Given the description of an element on the screen output the (x, y) to click on. 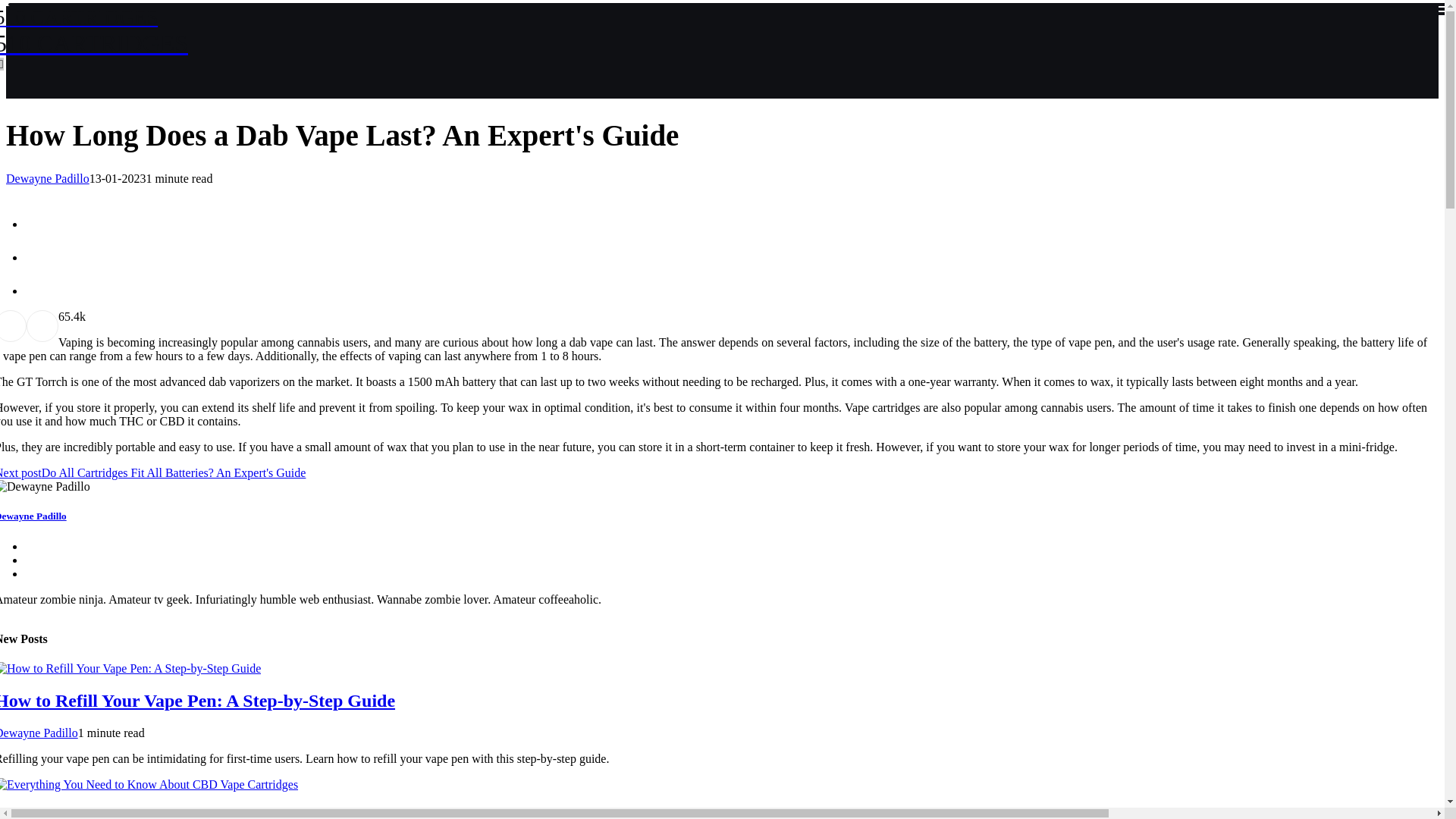
Dewayne Padillo (46, 178)
Posts by Dewayne Padillo (39, 732)
6 (61, 316)
Everything You Need to Know About CBD Vape Cartridges (228, 812)
Dewayne Padillo (93, 31)
Posts by Dewayne Padillo (33, 515)
Dewayne Padillo (46, 178)
How to Refill Your Vape Pen: A Step-by-Step Guide (39, 732)
Like (197, 700)
